Given the description of an element on the screen output the (x, y) to click on. 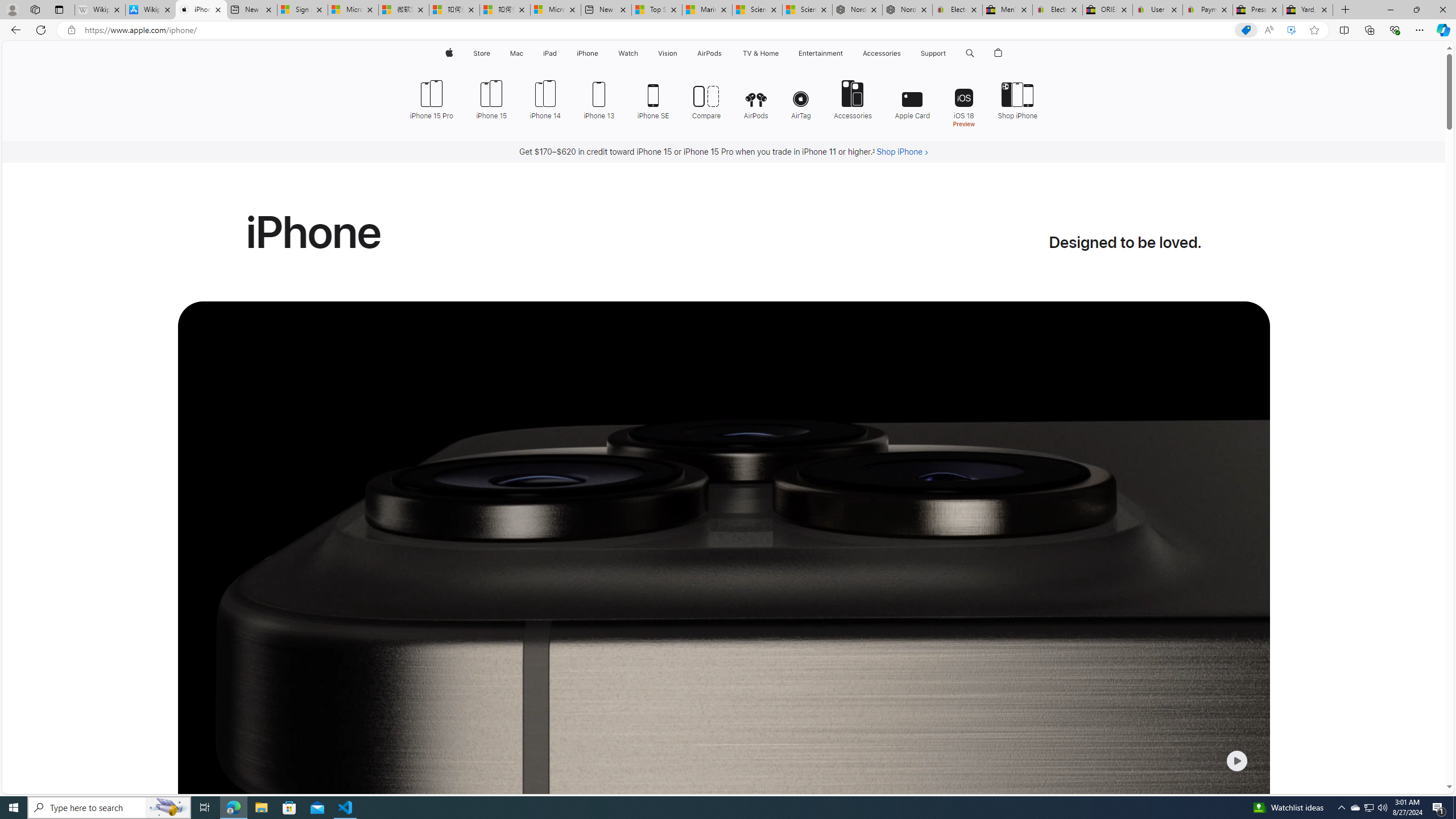
Support (932, 53)
Apple (448, 53)
iPhone 13 (598, 98)
Class: globalnav-item globalnav-search shift-0-1 (969, 53)
iPhone 14 (544, 98)
AirTag (801, 98)
Store menu (492, 53)
Apple Card (912, 98)
Shop iPhone (1017, 98)
Class: control-centered-small-icon (1236, 760)
iPhone (587, 53)
iPad (550, 53)
